Given the description of an element on the screen output the (x, y) to click on. 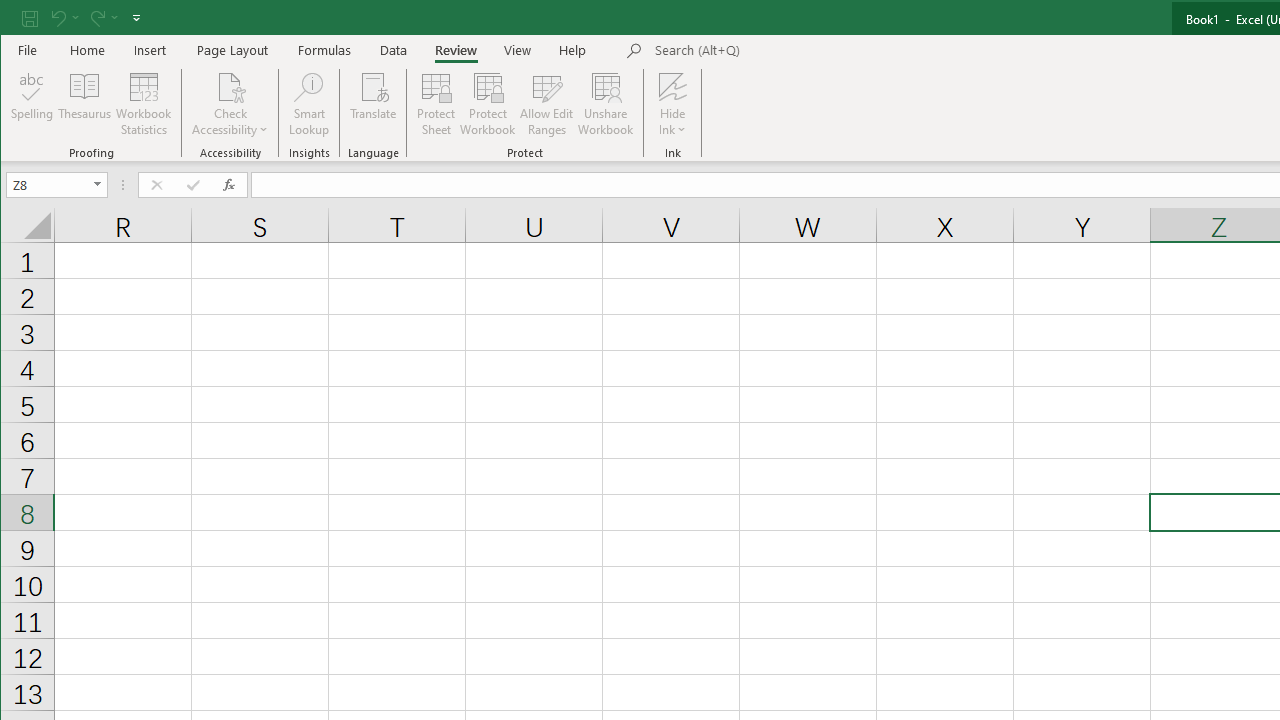
Hide Ink (672, 104)
Allow Edit Ranges (547, 104)
Check Accessibility (230, 104)
Thesaurus... (84, 104)
Hide Ink (672, 86)
